Given the description of an element on the screen output the (x, y) to click on. 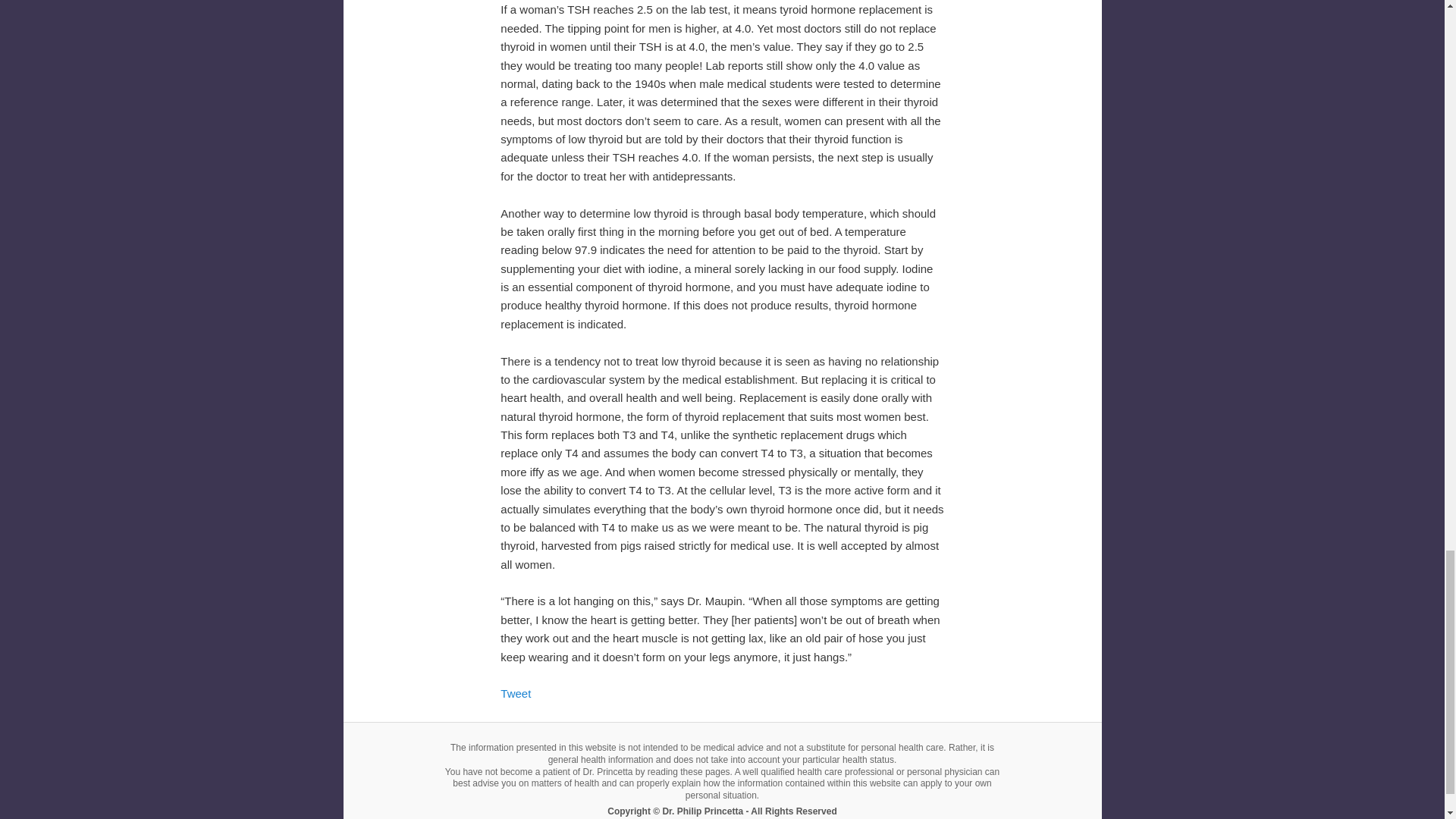
Medicine Free Healing (721, 810)
Tweet (515, 693)
